Given the description of an element on the screen output the (x, y) to click on. 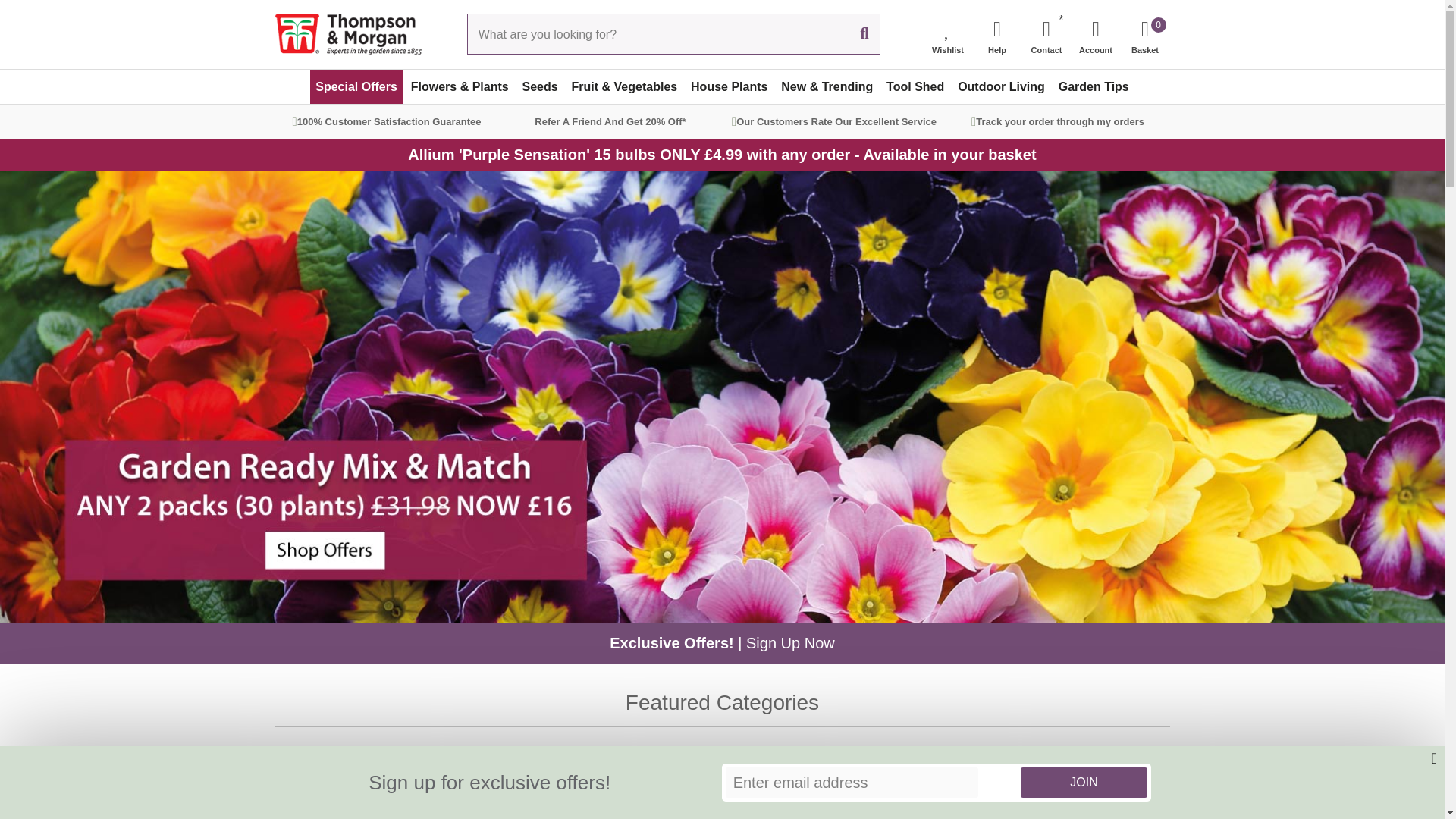
Wishlist (947, 32)
Special Offers (356, 86)
Help (997, 32)
Account (1094, 32)
Join (1145, 32)
